Given the description of an element on the screen output the (x, y) to click on. 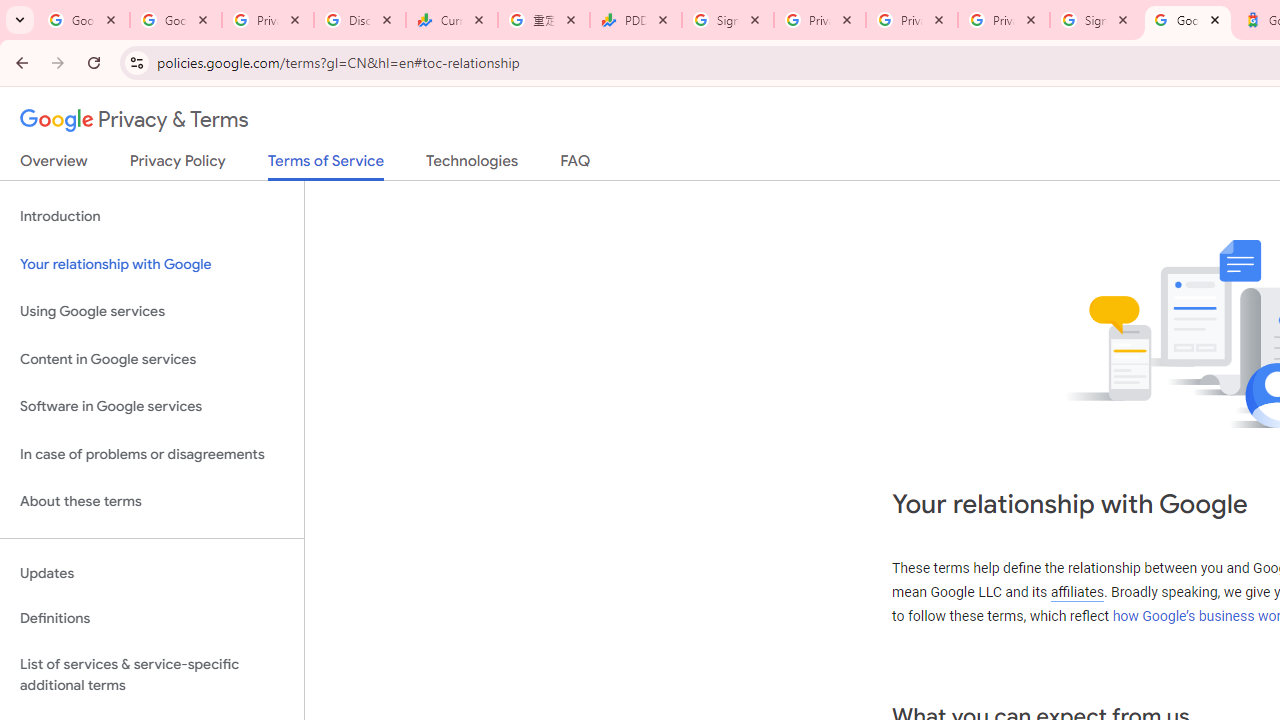
List of services & service-specific additional terms (152, 674)
Google Workspace Admin Community (83, 20)
Using Google services (152, 312)
